Given the description of an element on the screen output the (x, y) to click on. 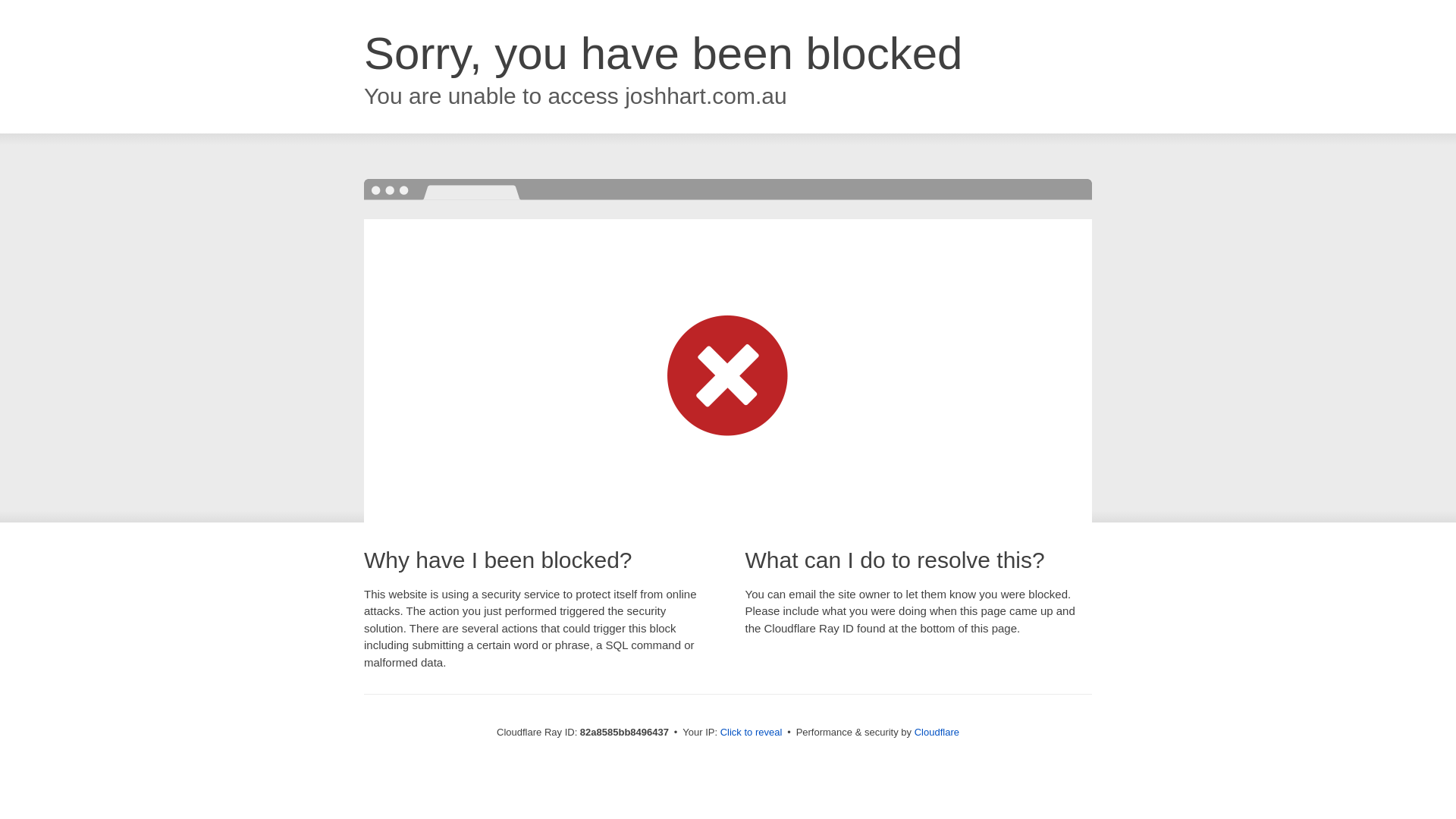
Click to reveal Element type: text (751, 732)
Cloudflare Element type: text (936, 731)
